Given the description of an element on the screen output the (x, y) to click on. 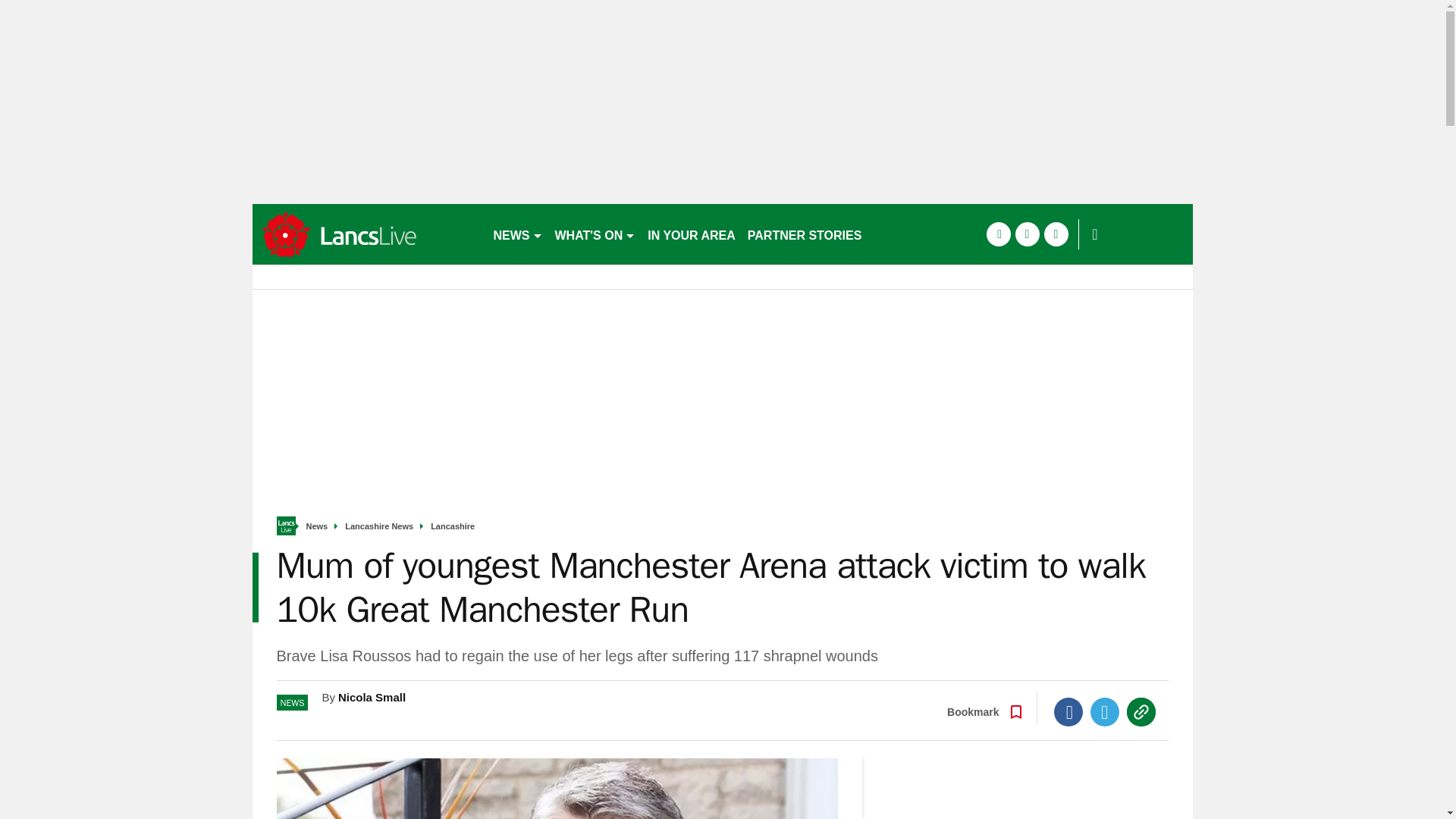
twitter (1026, 233)
accrington (365, 233)
facebook (997, 233)
NEWS (517, 233)
IN YOUR AREA (691, 233)
WHAT'S ON (595, 233)
Twitter (1104, 711)
PARTNER STORIES (804, 233)
instagram (1055, 233)
Facebook (1068, 711)
